Given the description of an element on the screen output the (x, y) to click on. 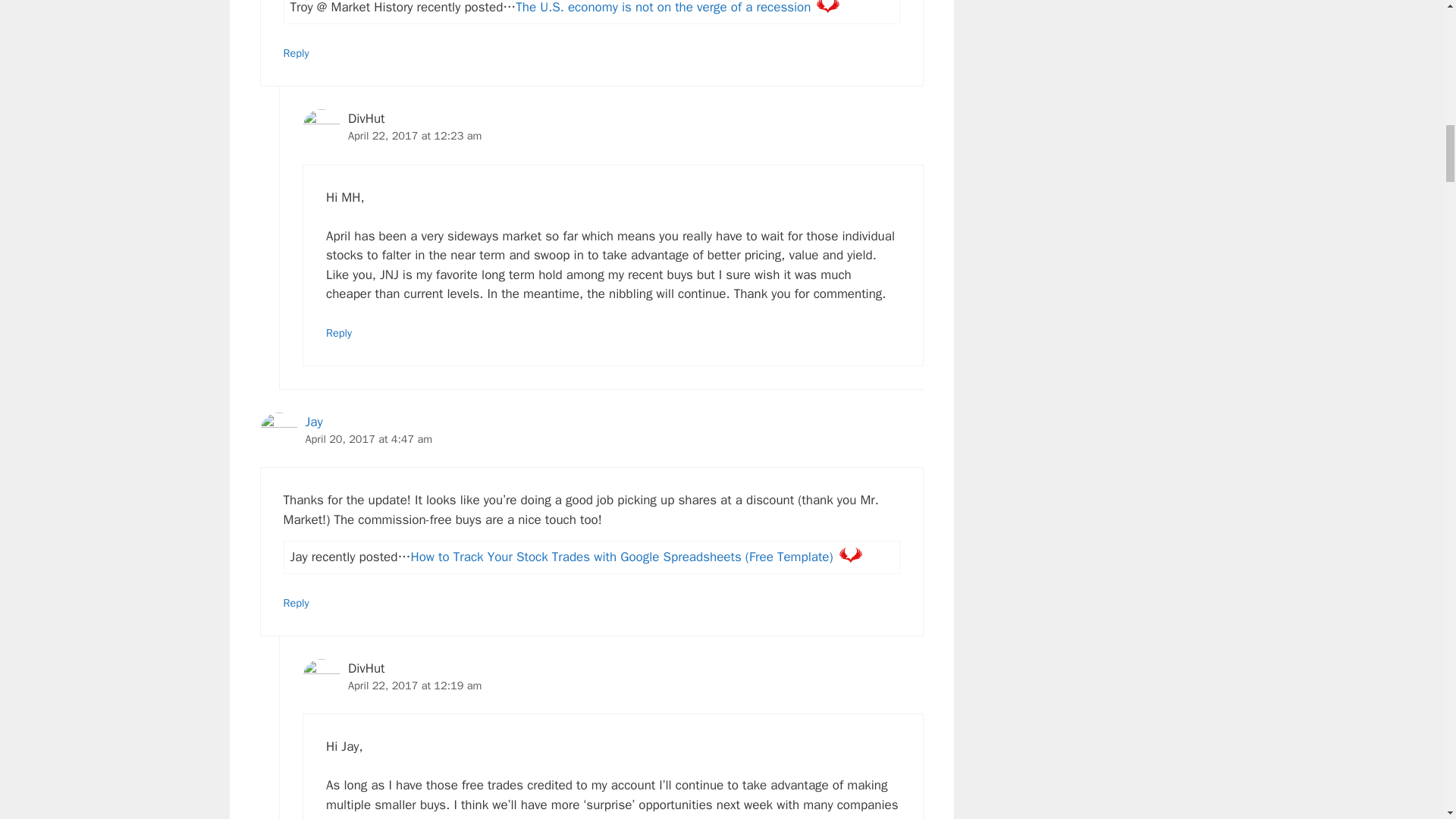
Reply (339, 332)
Jay (312, 421)
Reply (295, 52)
April 22, 2017 at 12:23 am (414, 135)
The U.S. economy is not on the verge of a recession (662, 7)
April 20, 2017 at 4:47 am (368, 438)
